Given the description of an element on the screen output the (x, y) to click on. 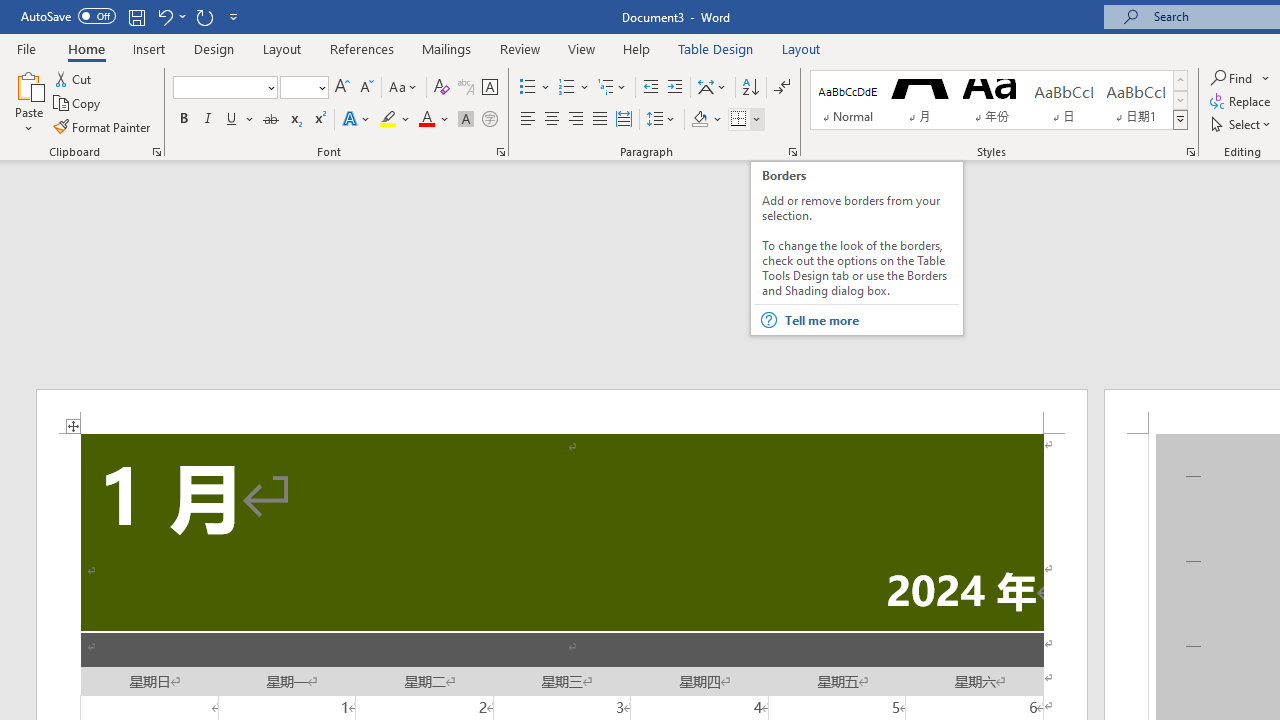
Row Down (1179, 100)
Text Highlight Color Yellow (388, 119)
Bold (183, 119)
Align Left (527, 119)
Office Clipboard... (156, 151)
Replace... (1242, 101)
Phonetic Guide... (465, 87)
Center (552, 119)
Cut (73, 78)
